Given the description of an element on the screen output the (x, y) to click on. 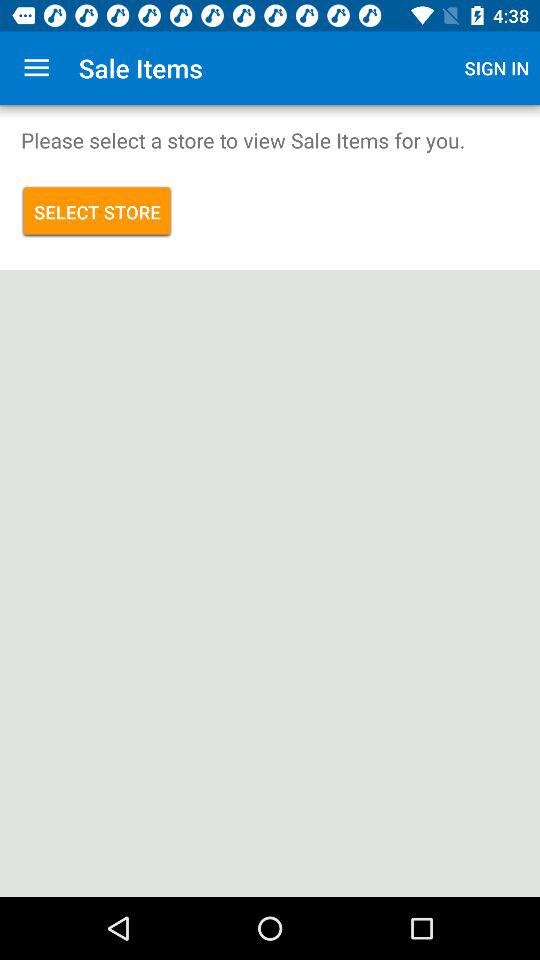
launch app next to sale items item (497, 67)
